Given the description of an element on the screen output the (x, y) to click on. 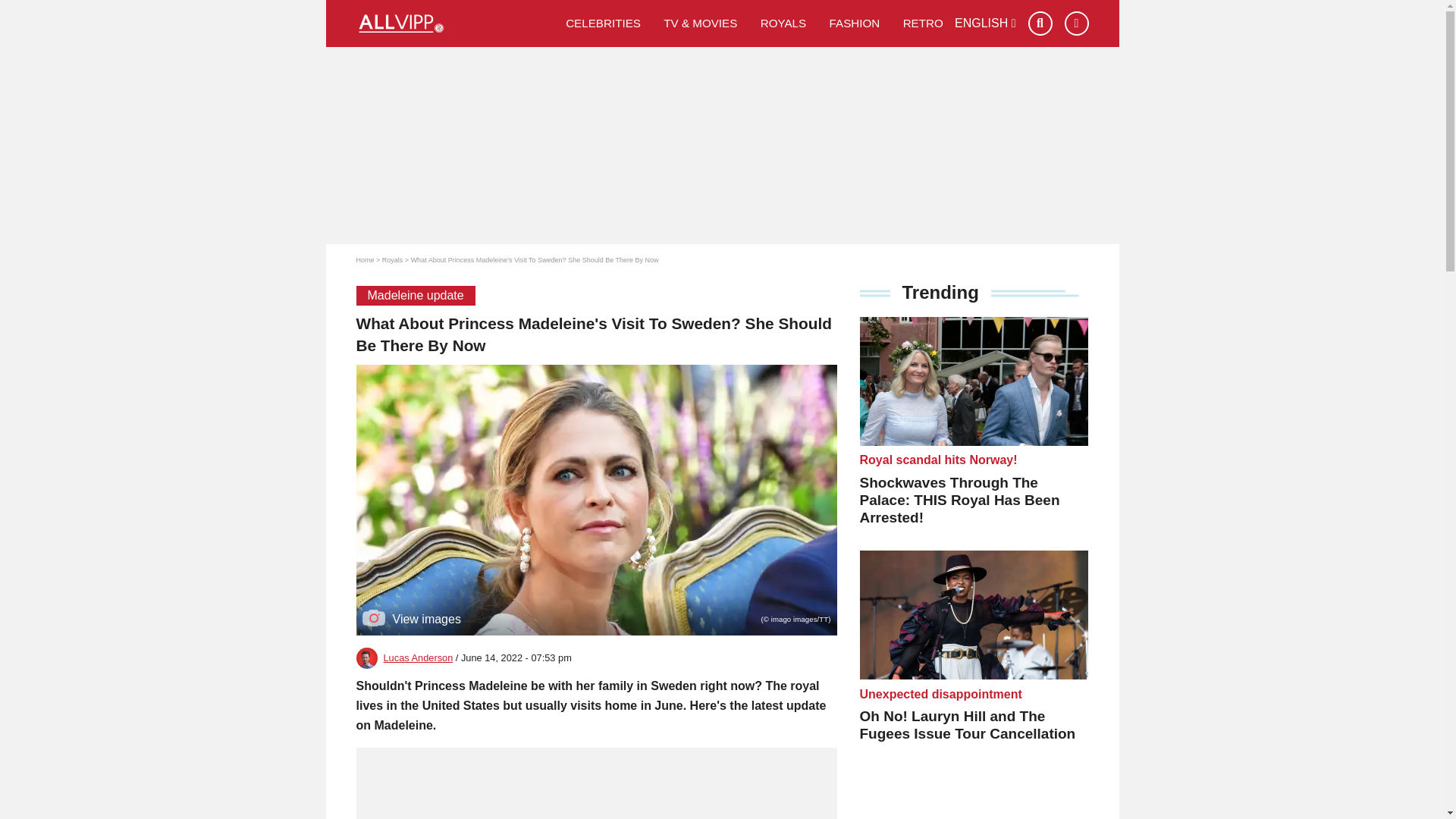
Royals (783, 23)
Search (1039, 23)
ENGLISH  (985, 22)
Celebrities (603, 23)
Lucas Anderson (418, 657)
CELEBRITIES (603, 23)
RETRO (923, 23)
FASHION (853, 23)
Royals (392, 259)
VIP News I Up close with your favorite Celebs on Allvipp.com (455, 23)
